Given the description of an element on the screen output the (x, y) to click on. 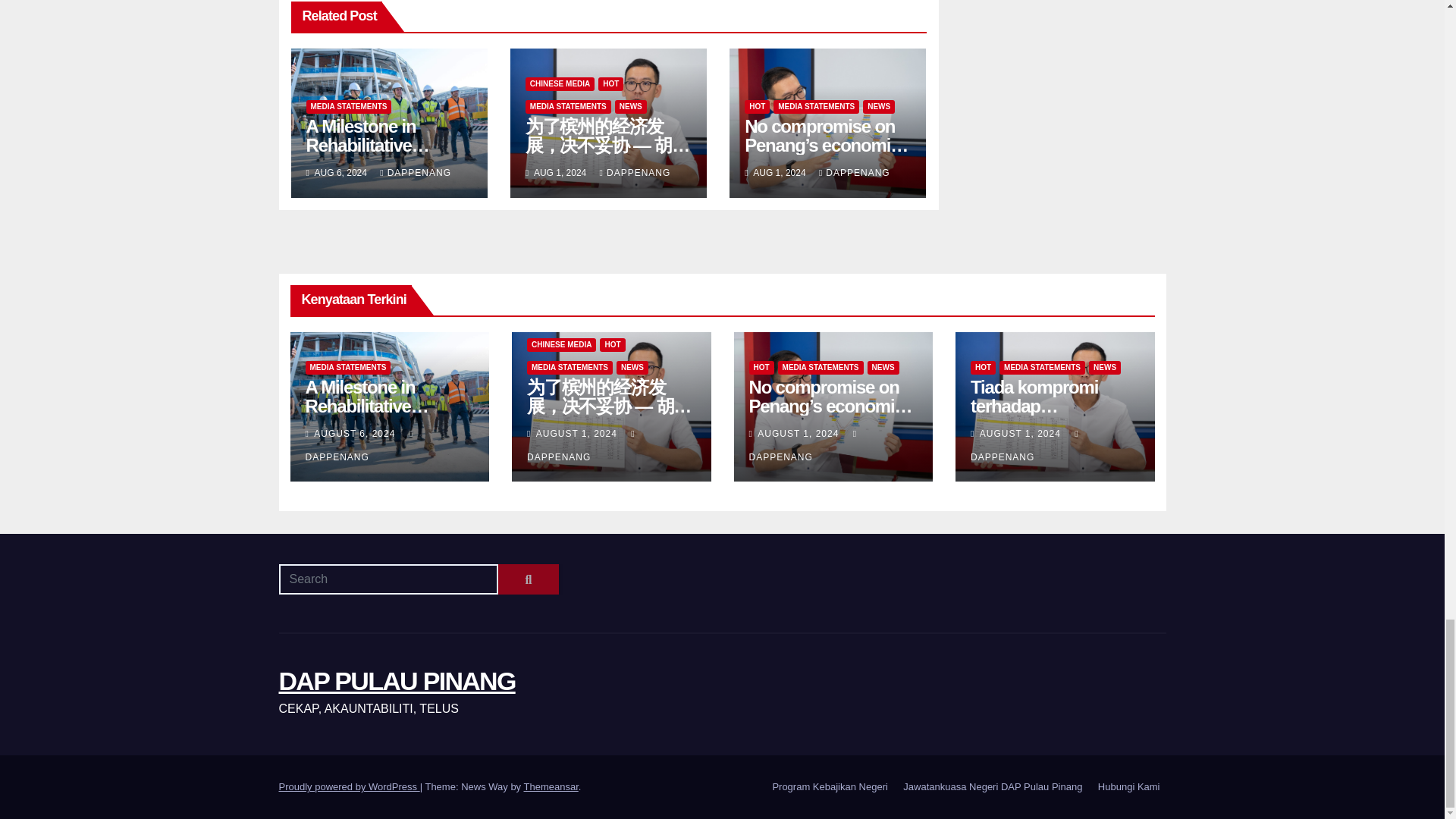
DAPPENANG (415, 172)
Jawatankuasa Negeri DAP Pulau Pinang (991, 786)
CHINESE MEDIA (559, 83)
NEWS (630, 106)
MEDIA STATEMENTS (348, 106)
DAPPENANG (635, 172)
HOT (610, 83)
